Given the description of an element on the screen output the (x, y) to click on. 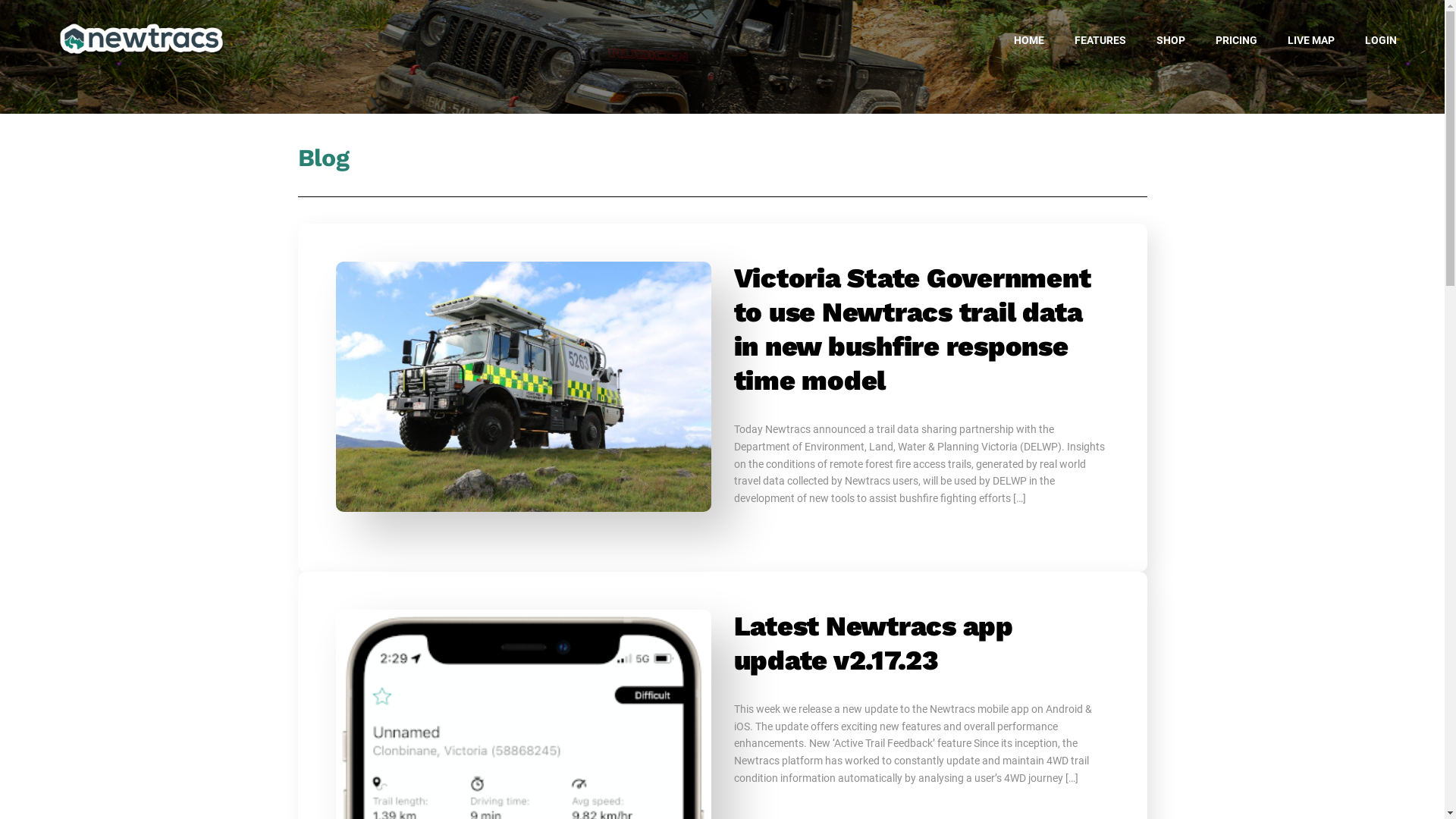
PRICING Element type: text (1236, 40)
HOME Element type: text (1028, 40)
FEATURES Element type: text (1100, 40)
SHOP Element type: text (1170, 40)
Latest Newtracs app update v2.17.23 Element type: text (873, 643)
LOGIN Element type: text (1380, 40)
LIVE MAP Element type: text (1310, 40)
